Given the description of an element on the screen output the (x, y) to click on. 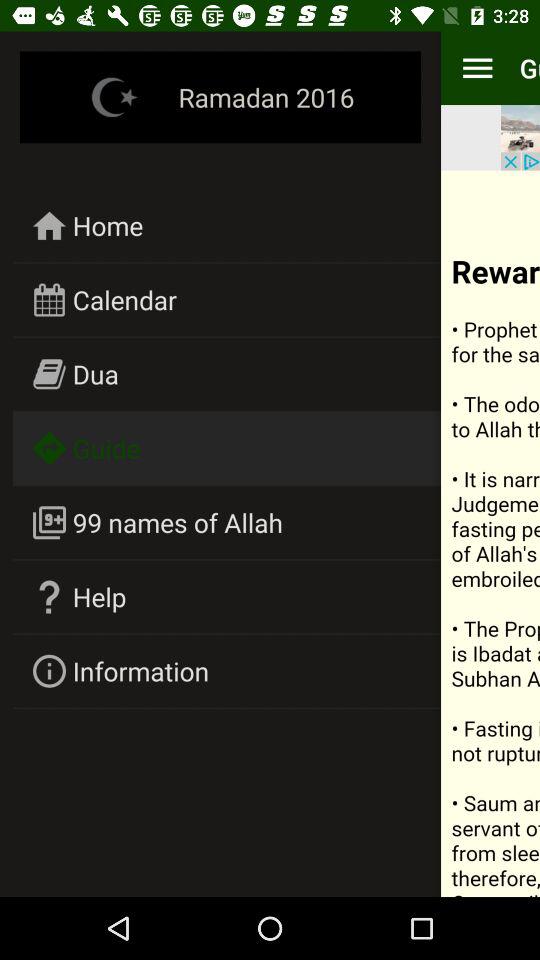
open home icon (108, 225)
